Given the description of an element on the screen output the (x, y) to click on. 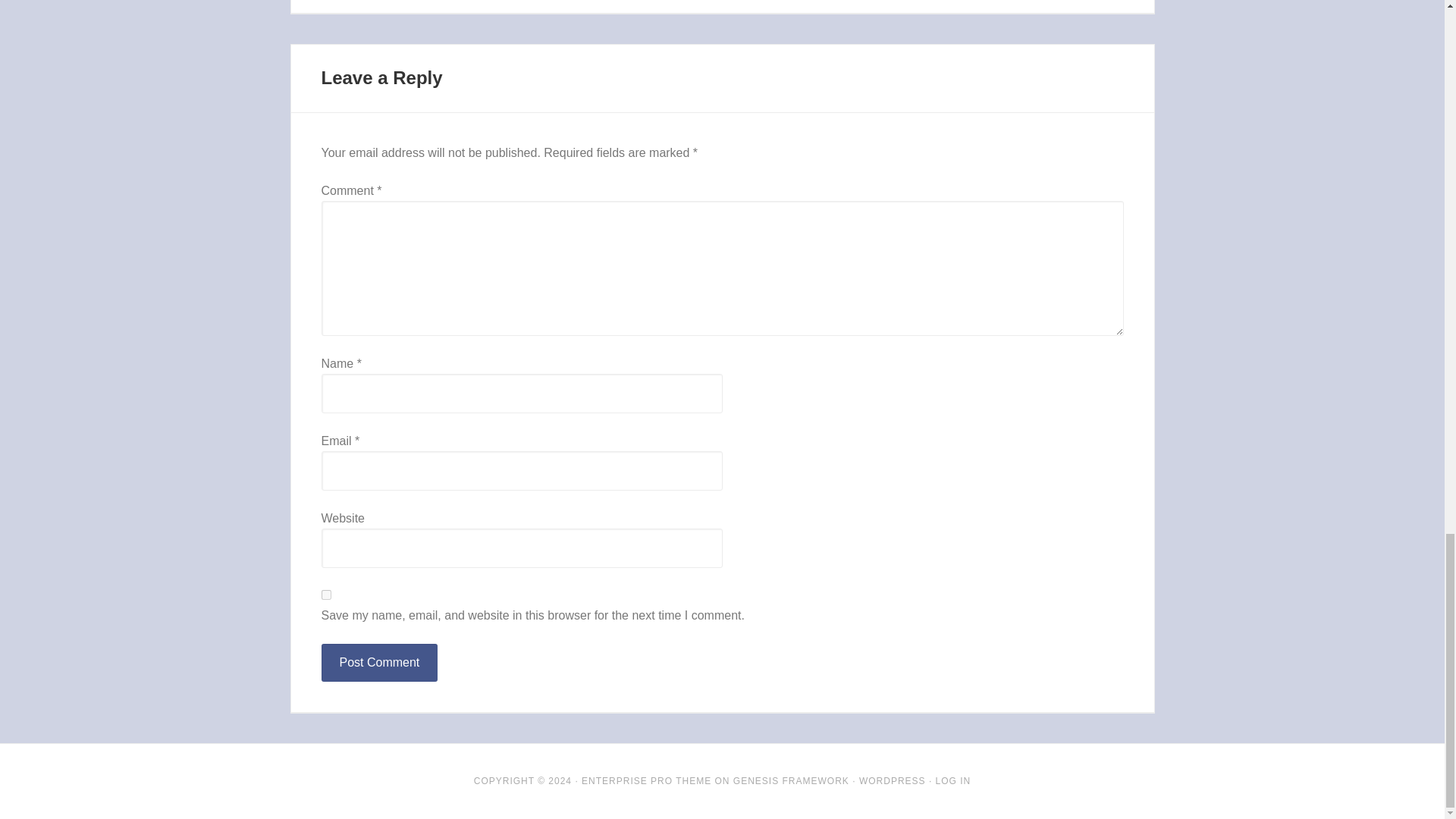
Post Comment (379, 662)
LOG IN (953, 780)
Post Comment (379, 662)
WORDPRESS (892, 780)
yes (326, 594)
GENESIS FRAMEWORK (790, 780)
ENTERPRISE PRO THEME (645, 780)
